Given the description of an element on the screen output the (x, y) to click on. 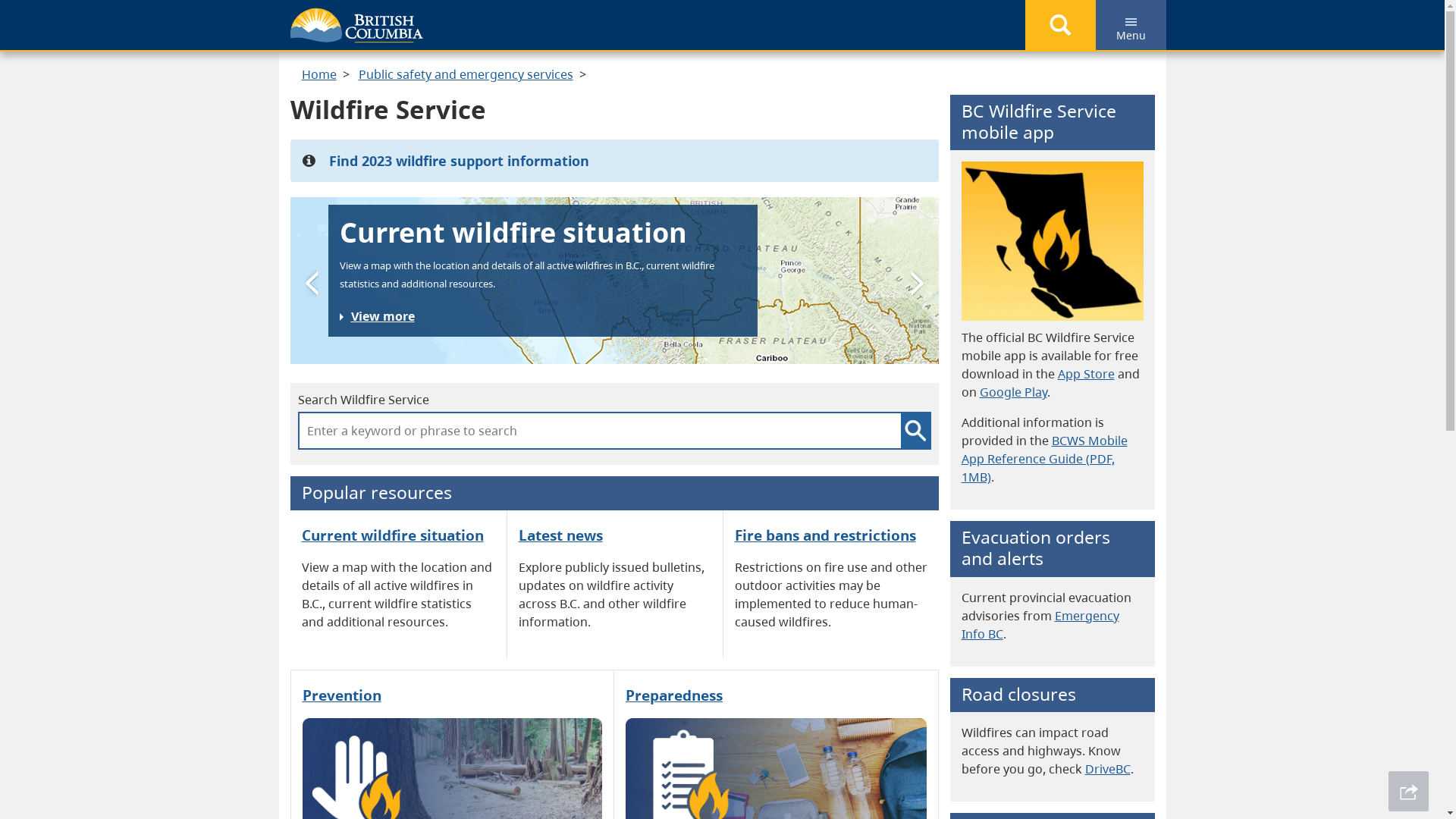
Fire bans and restrictions Element type: text (824, 534)
Emergency Info BC Element type: text (1040, 624)
Preparedness Element type: text (673, 694)
View more Element type: text (376, 316)
Home Element type: text (318, 73)
DriveBC Element type: text (1106, 768)
Prevention Element type: text (340, 694)
BCWS Mobile App Reference Guide (PDF, 1MB) Element type: text (1044, 458)
Public safety and emergency services Element type: text (464, 73)
App Store Element type: text (1085, 373)
Google Play Element type: text (1013, 391)
Latest news Element type: text (560, 534)
Current wildfire situation Element type: text (392, 534)
Find 2023 wildfire support information Element type: text (459, 160)
Menu Element type: text (1130, 25)
Government of B.C. Element type: hover (355, 25)
Share This Page Element type: hover (1408, 791)
